Given the description of an element on the screen output the (x, y) to click on. 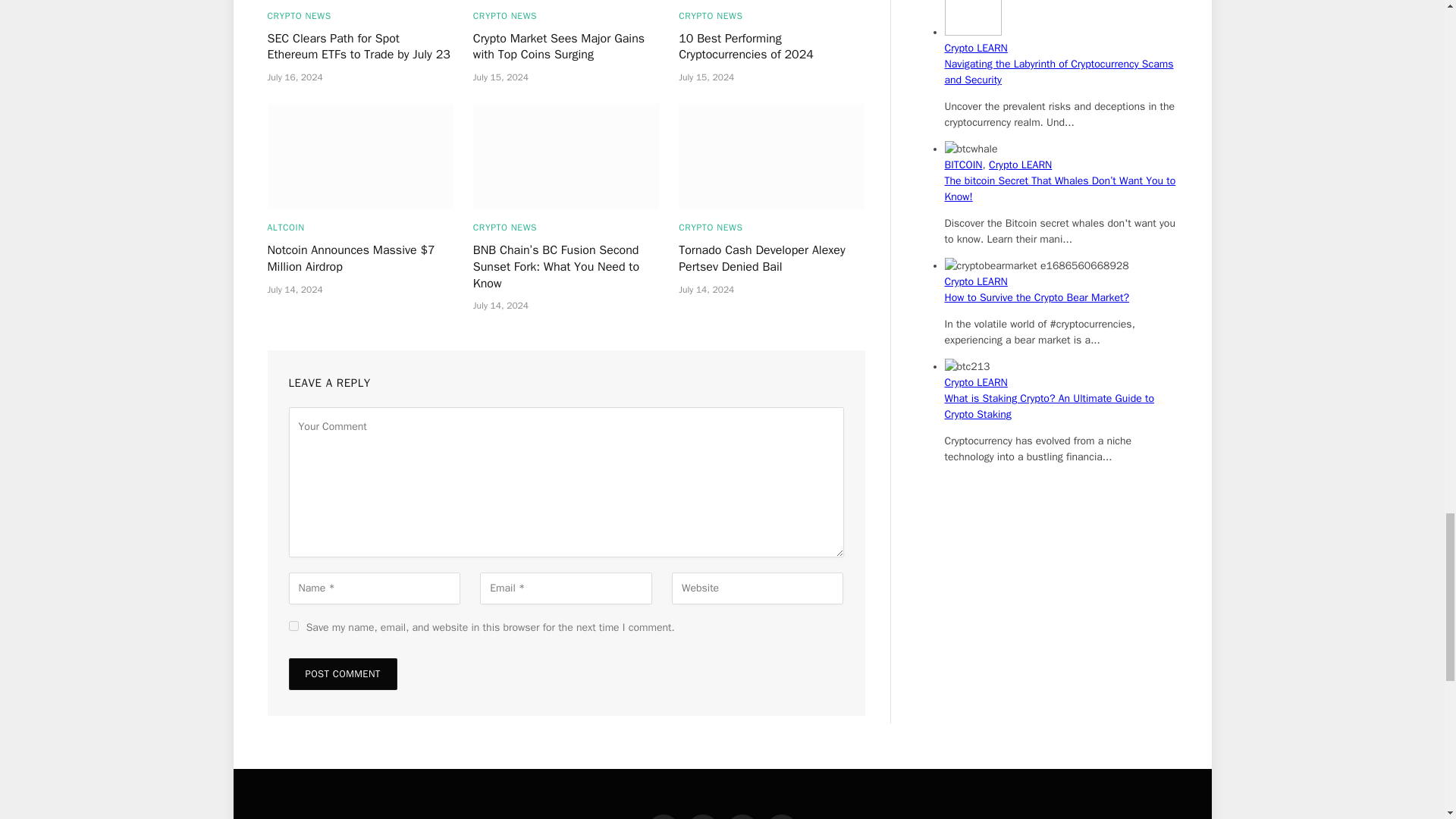
Post Comment (342, 674)
yes (293, 625)
